Given the description of an element on the screen output the (x, y) to click on. 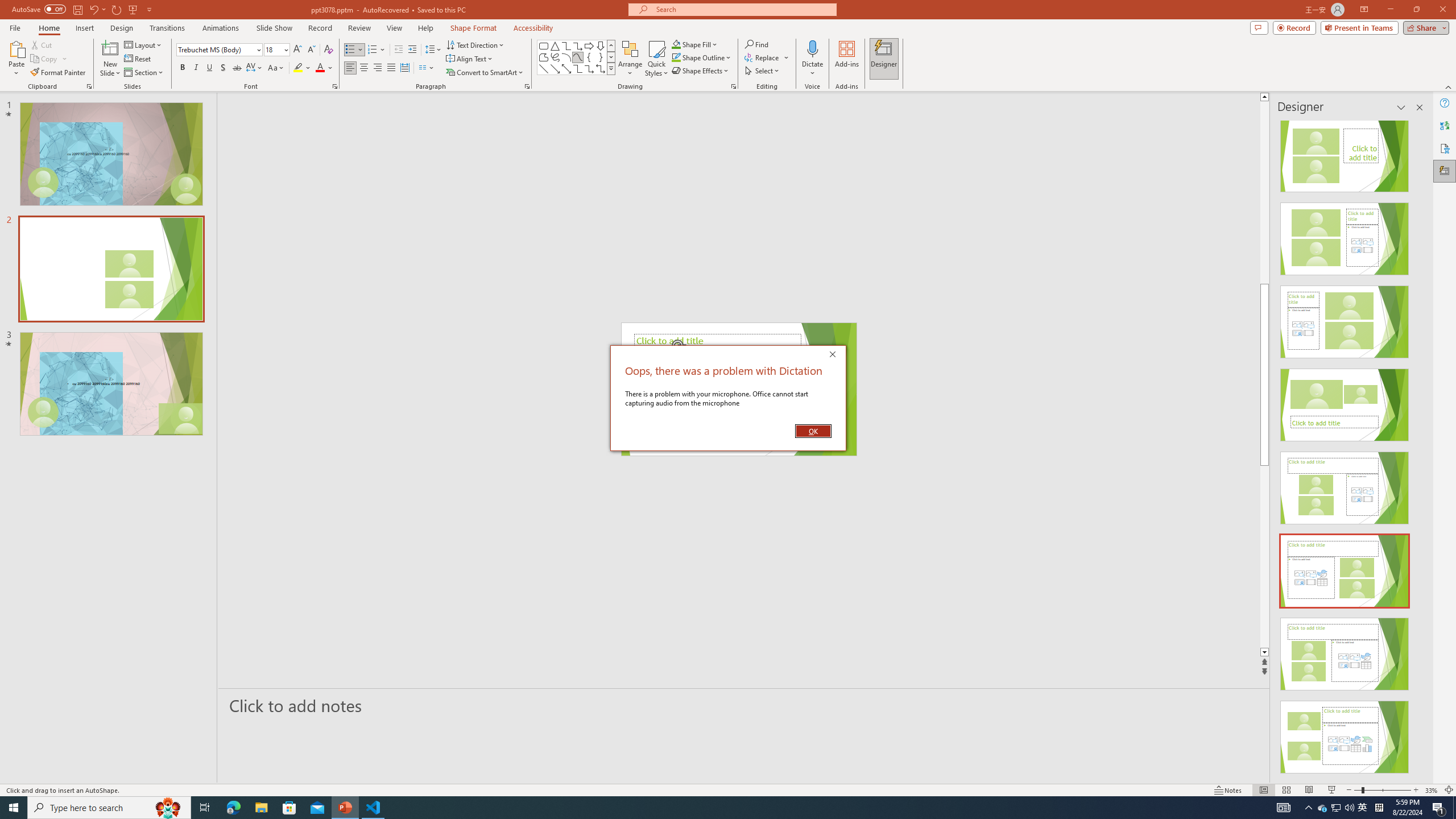
Zoom 33% (1431, 790)
